Given the description of an element on the screen output the (x, y) to click on. 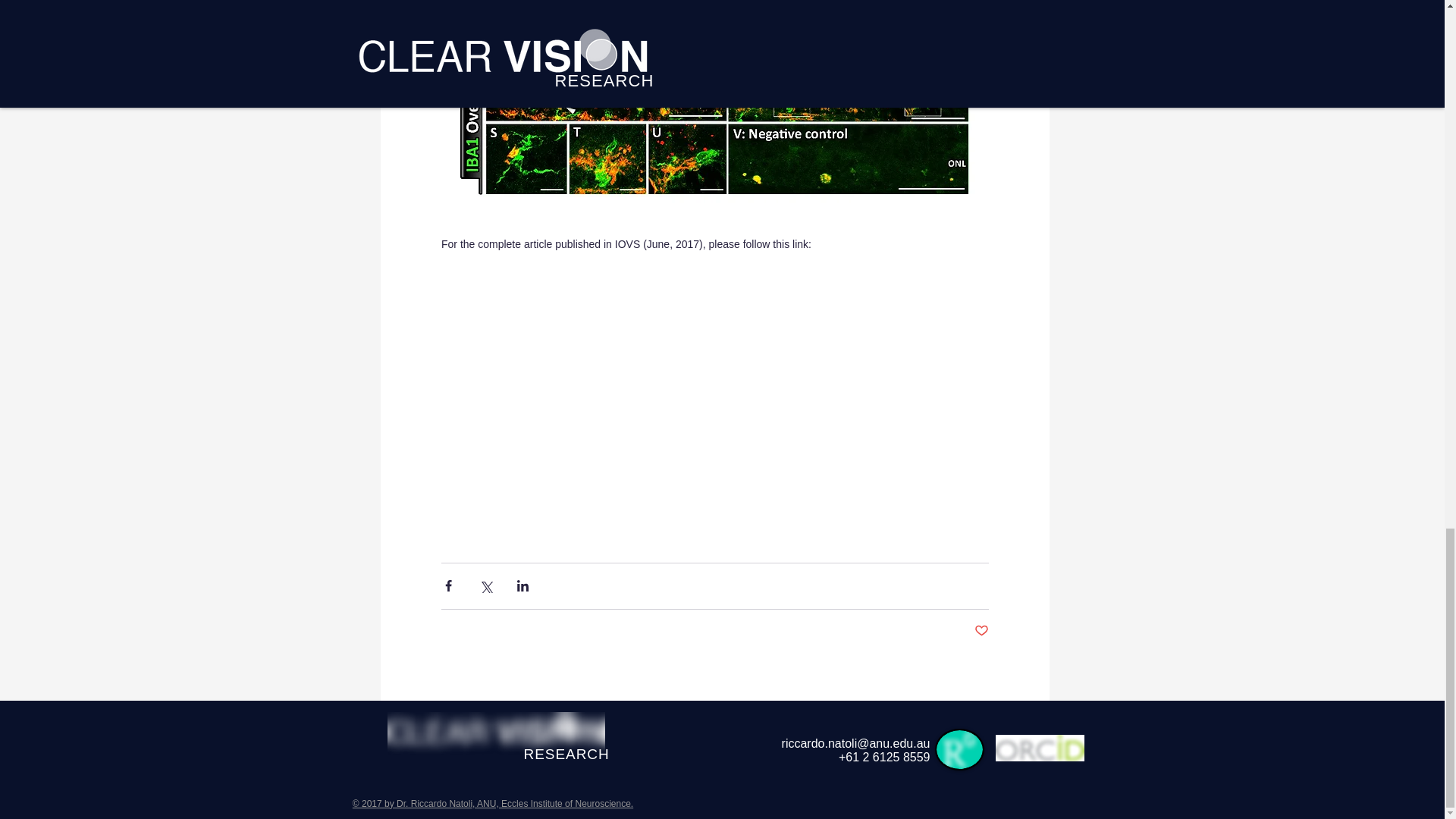
Post not marked as liked (981, 631)
